Given the description of an element on the screen output the (x, y) to click on. 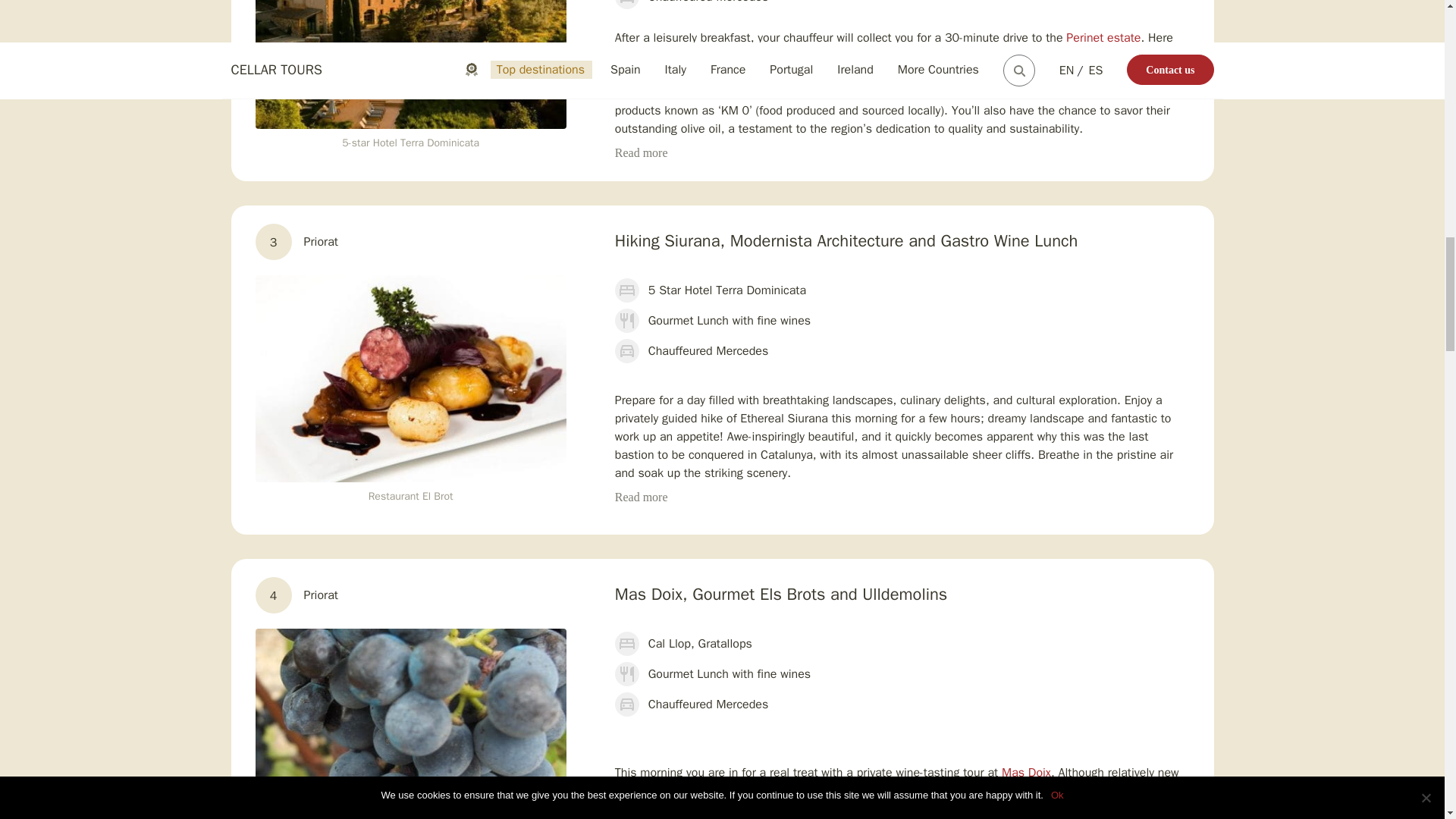
Restaurant El Brot (410, 379)
Garnacha Grapes, Priorat (410, 723)
5-star Hotel Terra Dominicata (410, 64)
